Given the description of an element on the screen output the (x, y) to click on. 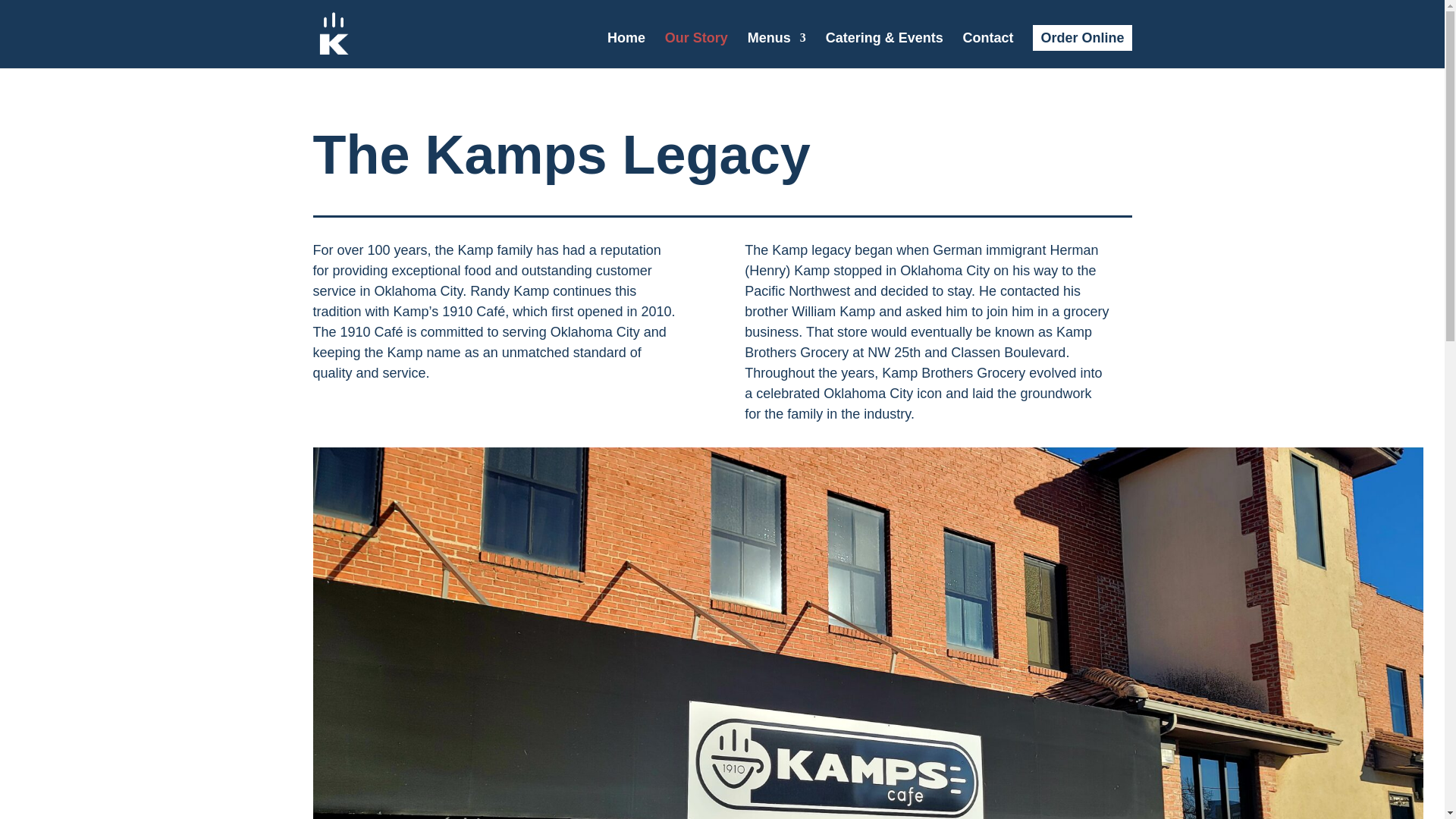
Home (626, 49)
Contact (987, 49)
Menus (777, 49)
Our Story (696, 49)
Order Online (1081, 37)
